Given the description of an element on the screen output the (x, y) to click on. 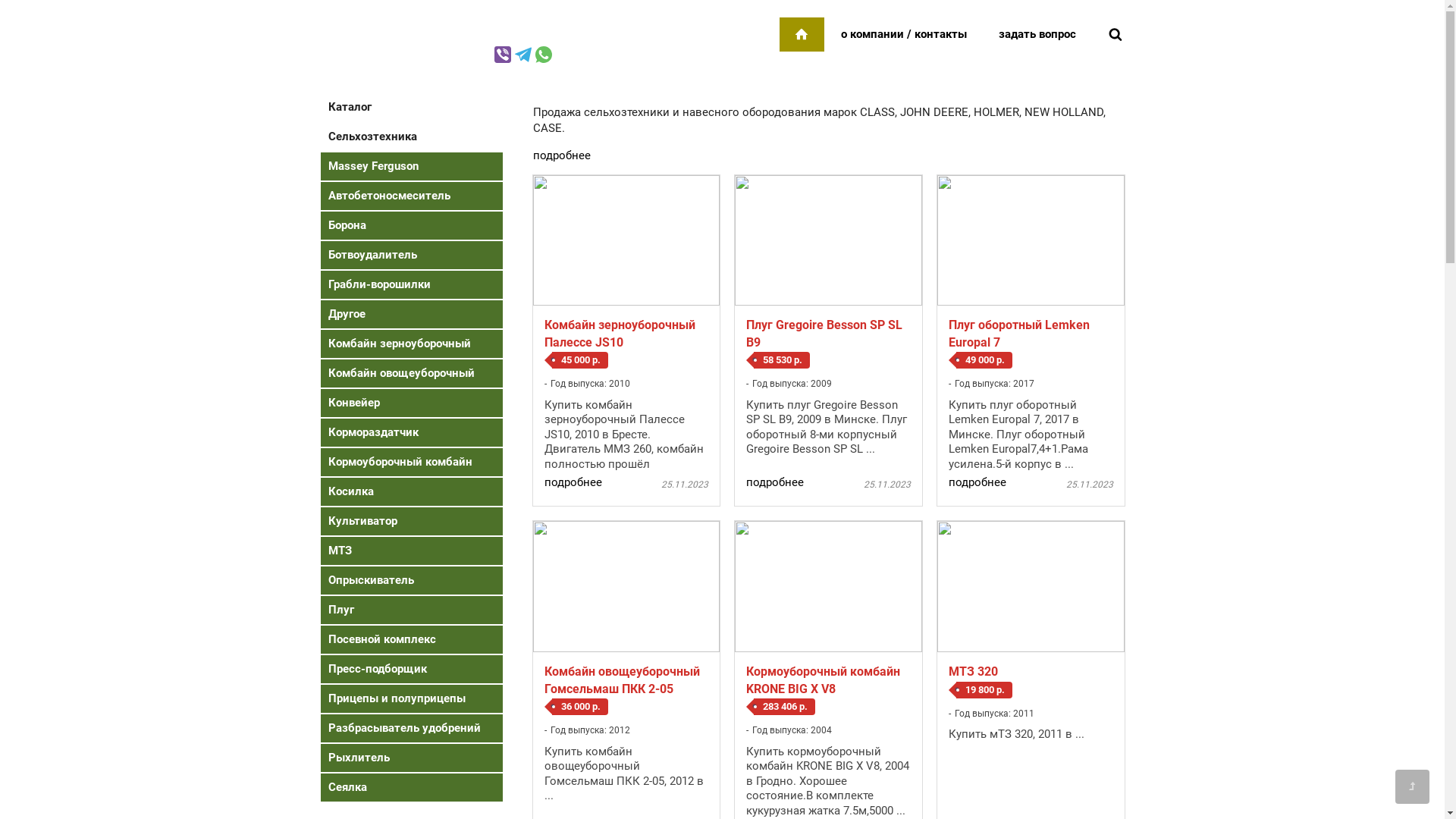
+375 29 259-92-95 Element type: text (458, 51)
Massey Ferguson Element type: text (411, 166)
